Given the description of an element on the screen output the (x, y) to click on. 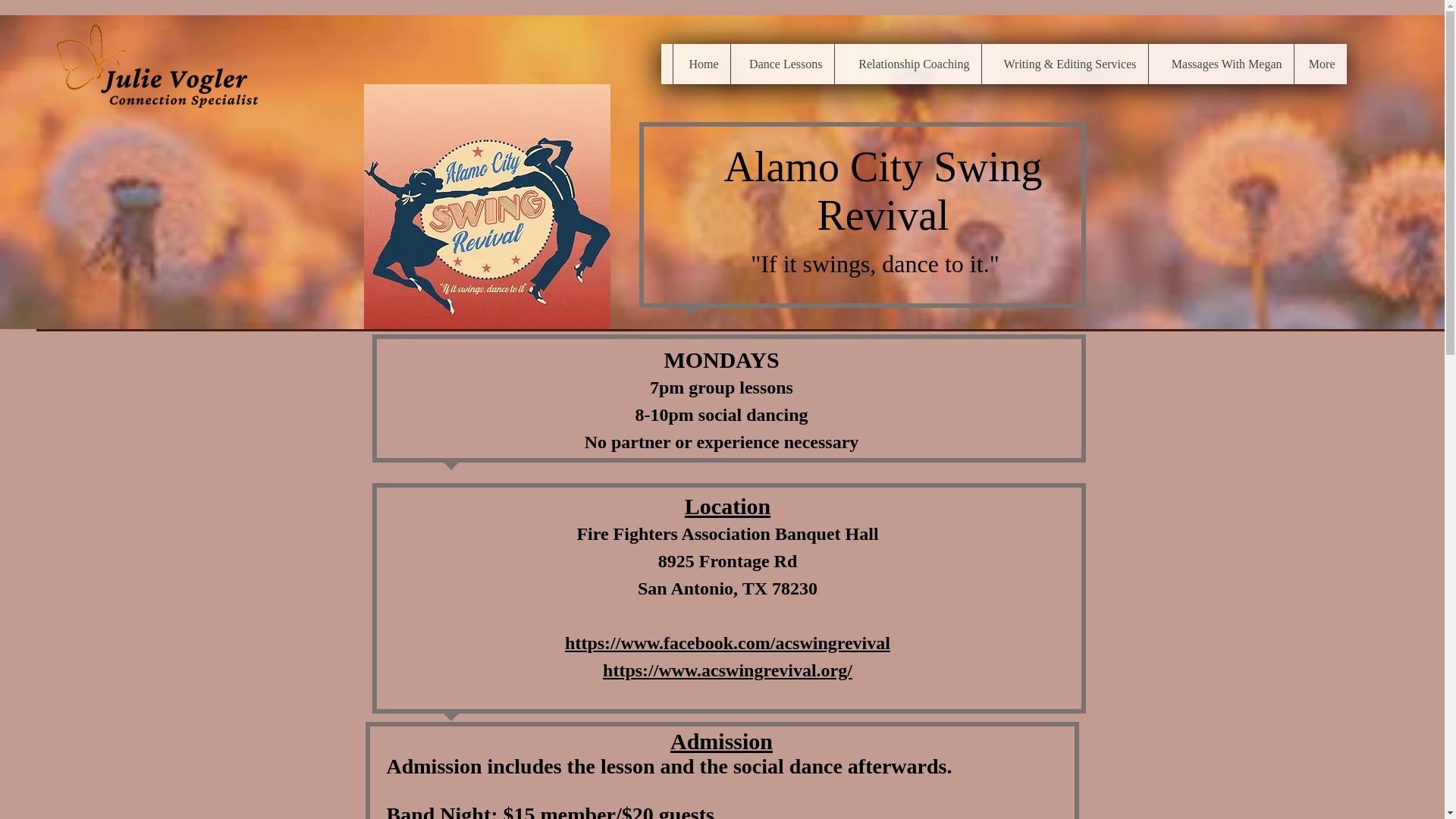
Relationship Coaching (907, 64)
Massages With Megan (1221, 64)
Home (700, 64)
Dance Lessons (780, 64)
